Given the description of an element on the screen output the (x, y) to click on. 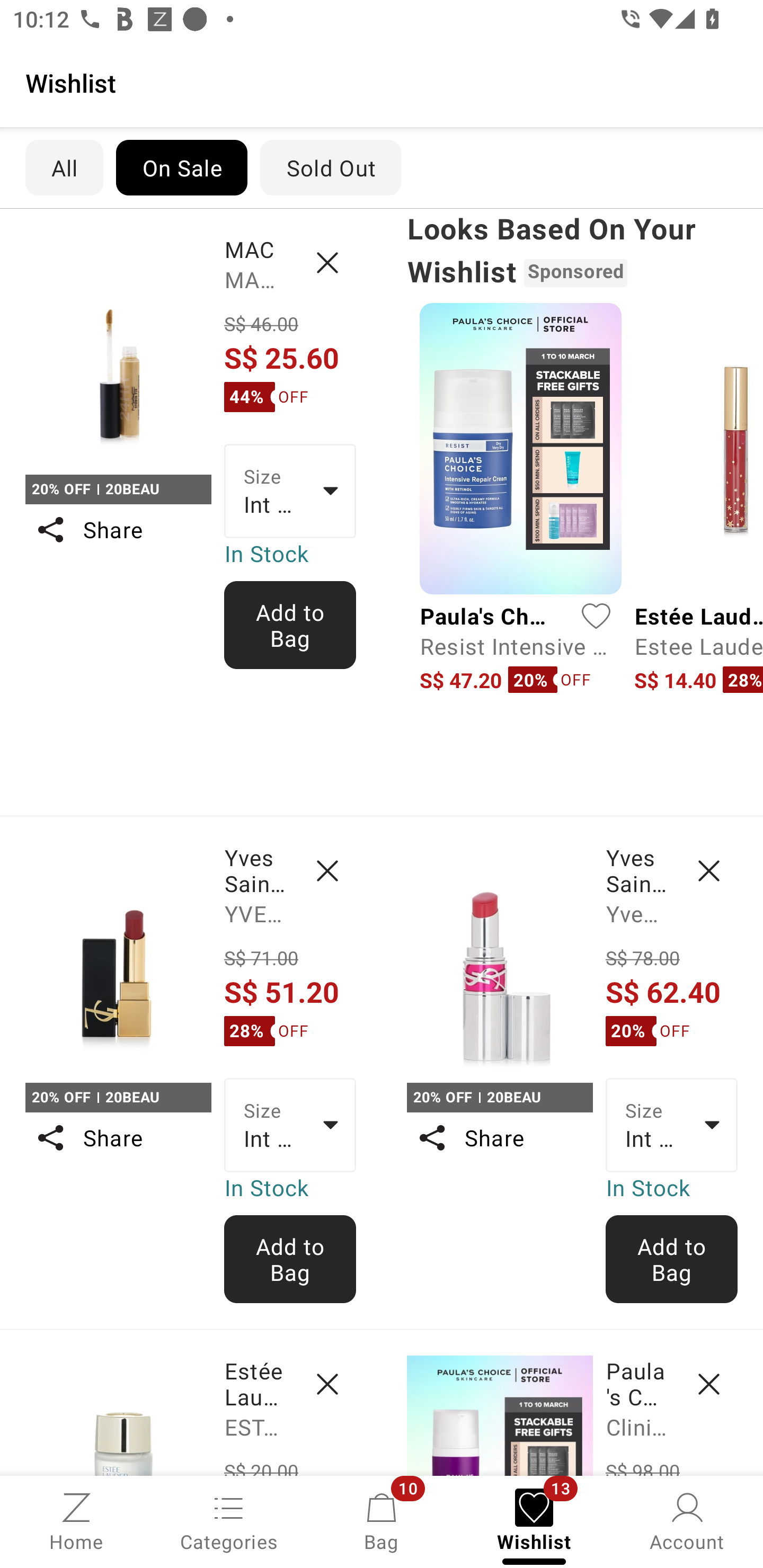
Wishlist (381, 82)
All (64, 167)
On Sale (181, 167)
Sold Out (330, 167)
Size Int One Size (290, 490)
Share (118, 529)
Add to Bag (290, 625)
Size Int One Size (290, 1125)
Size Int One Size (671, 1125)
Share (118, 1137)
Share (499, 1137)
Add to Bag (290, 1259)
Add to Bag (671, 1259)
Home (76, 1519)
Categories (228, 1519)
Bag, 10 new notifications Bag (381, 1519)
Account (686, 1519)
